Given the description of an element on the screen output the (x, y) to click on. 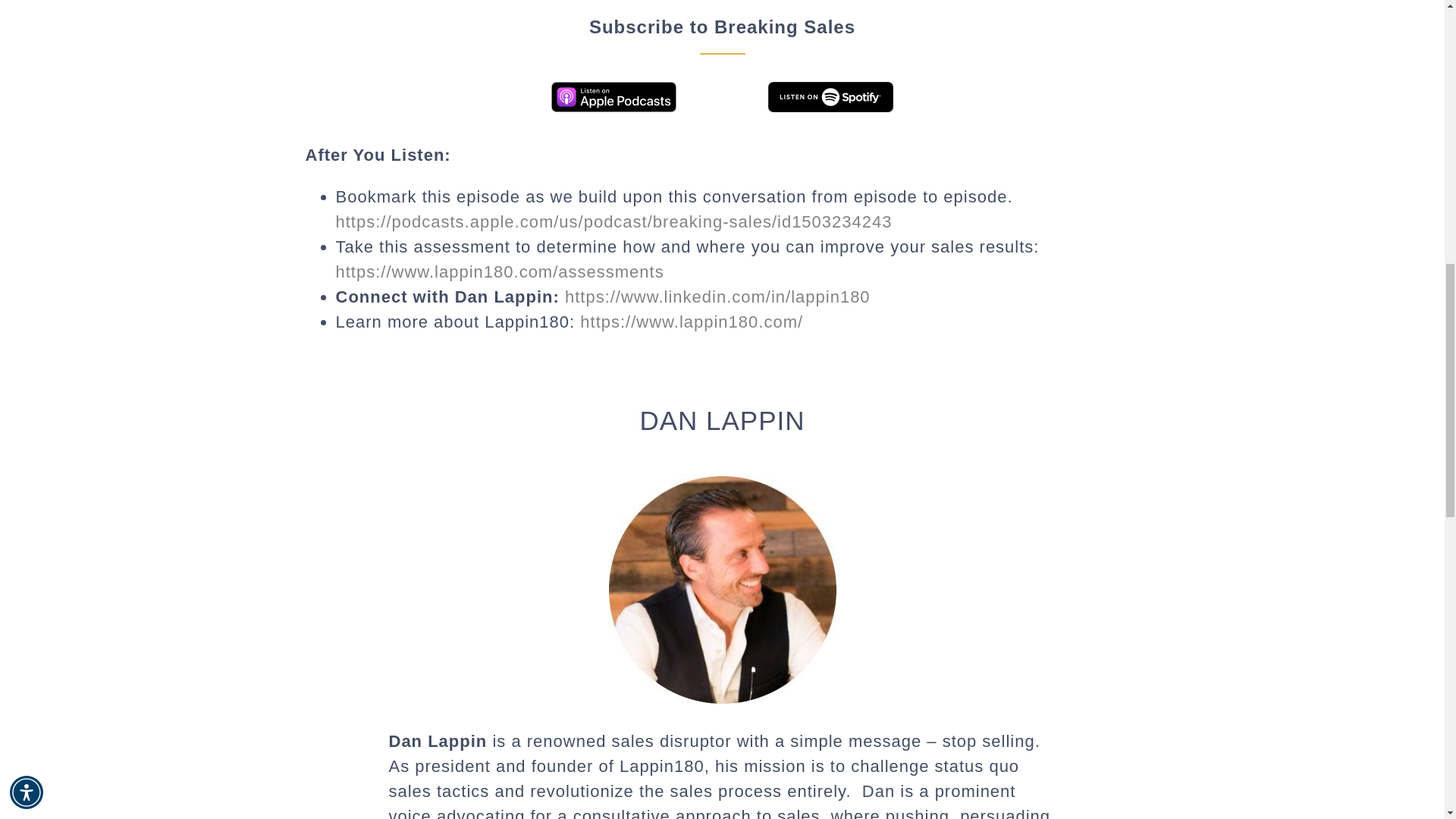
Breaking-Sales-Podcast-Dan-Lappin-Circle (721, 589)
Subscribe to Breaking Sales (721, 73)
